Given the description of an element on the screen output the (x, y) to click on. 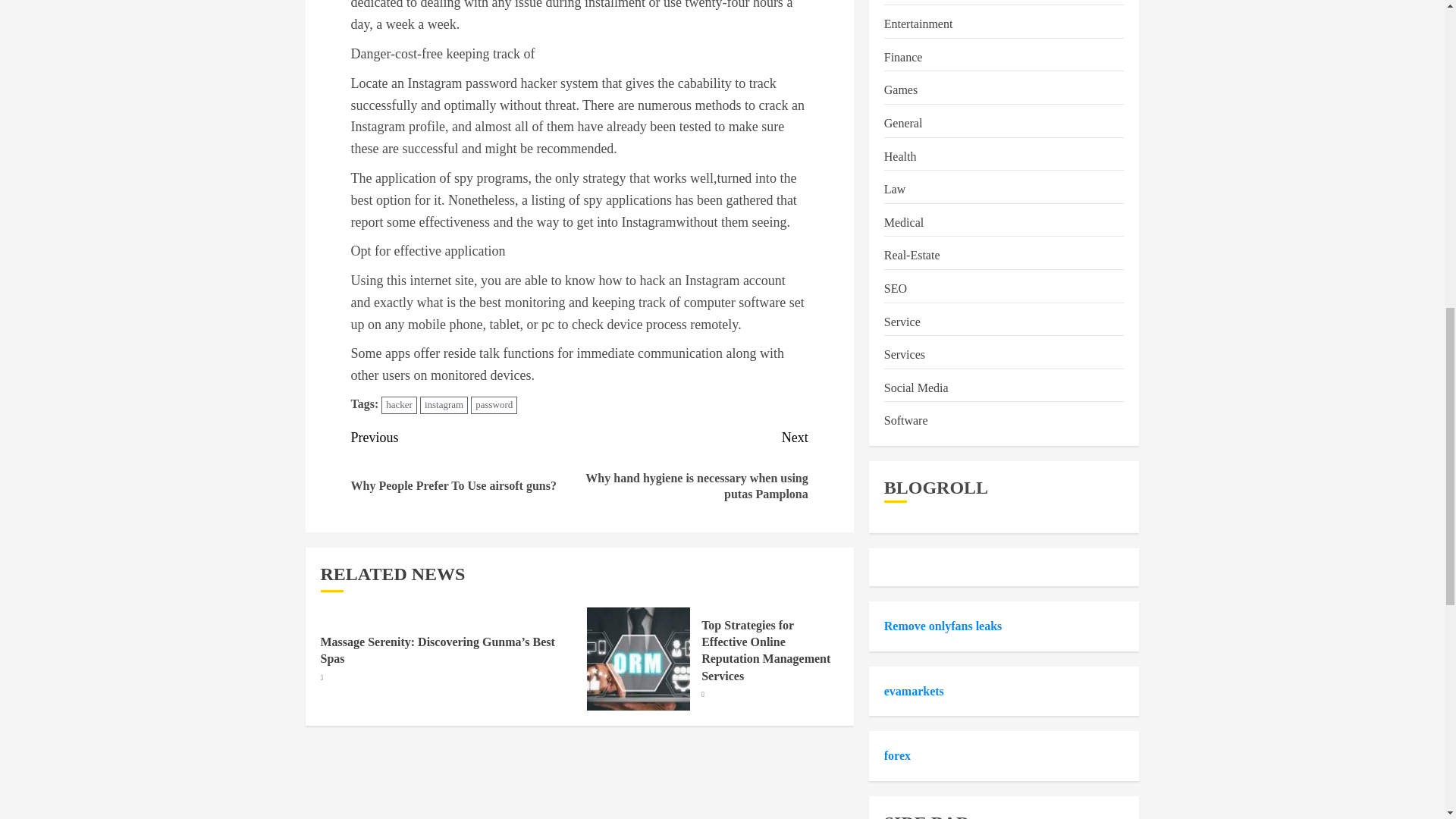
Finance (903, 57)
hacker (398, 405)
Entertainment (918, 24)
password (493, 405)
instagram (443, 405)
